Given the description of an element on the screen output the (x, y) to click on. 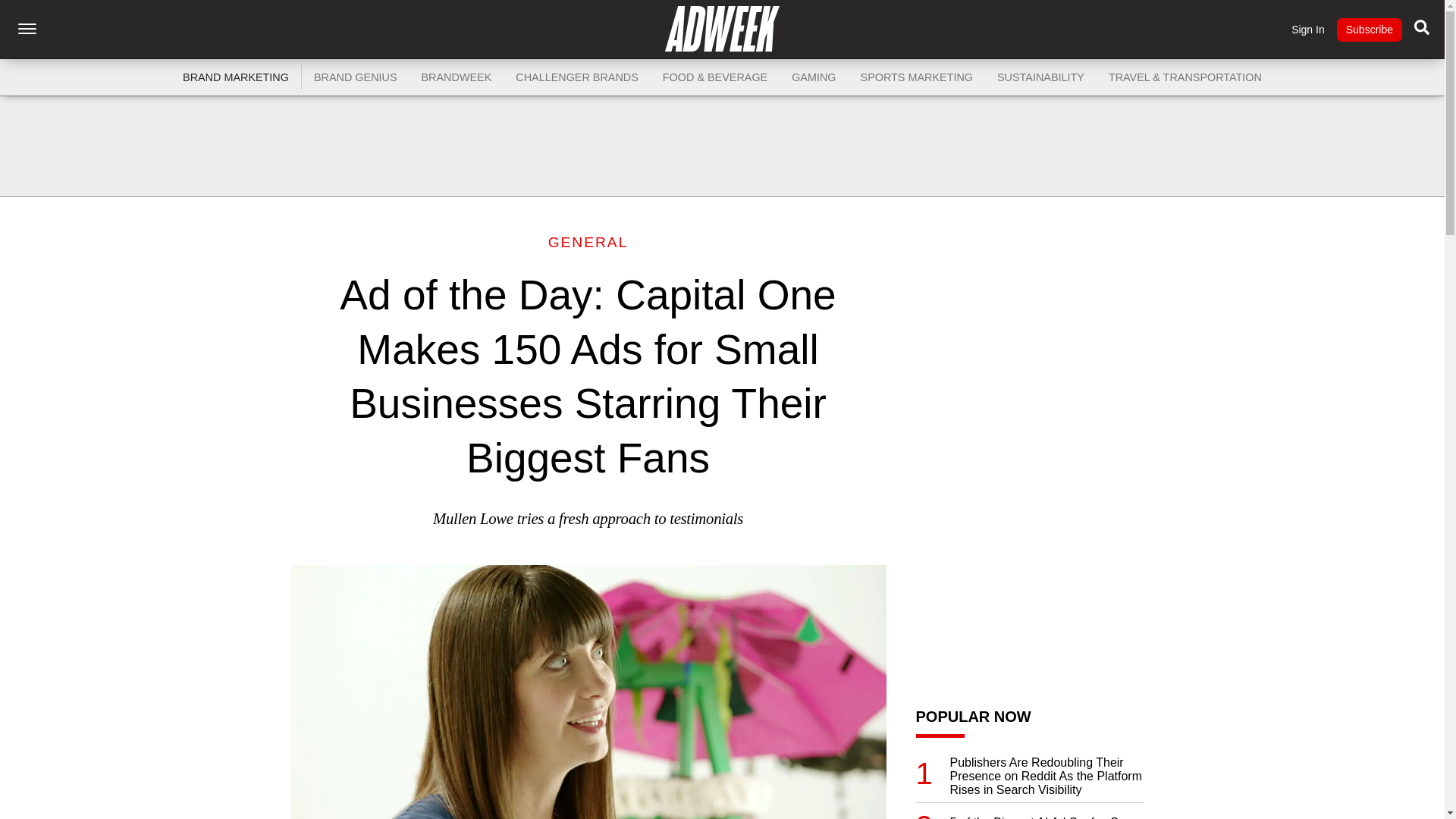
GAMING (812, 77)
GENERAL (588, 242)
Subscribe (1369, 29)
SPORTS MARKETING (916, 77)
BRAND MARKETING (235, 77)
Sign In (1307, 29)
Toggle Main Menu (26, 28)
BRAND GENIUS (355, 77)
SUSTAINABILITY (1040, 77)
